Given the description of an element on the screen output the (x, y) to click on. 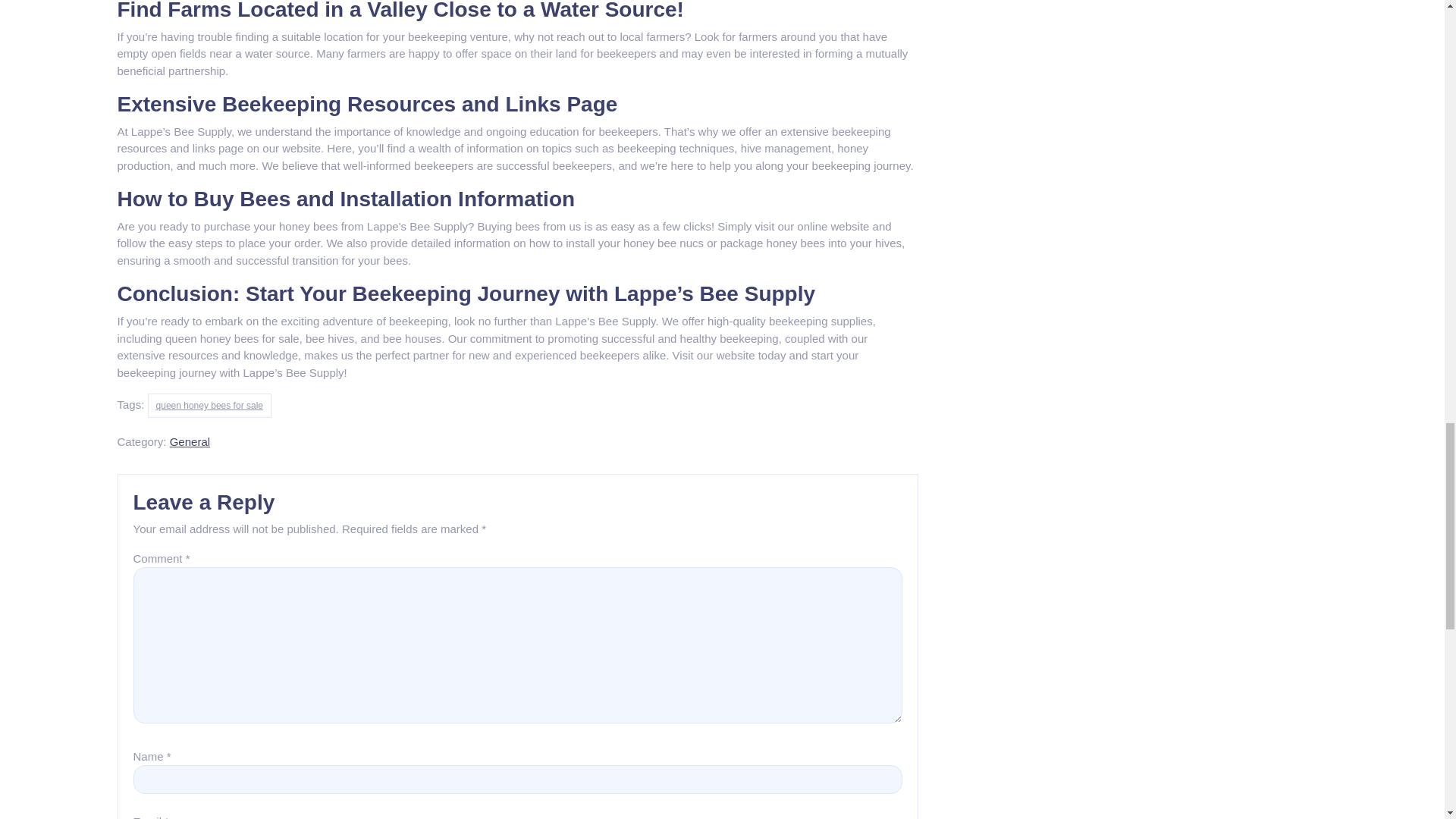
General (189, 440)
queen honey bees for sale (209, 405)
